Given the description of an element on the screen output the (x, y) to click on. 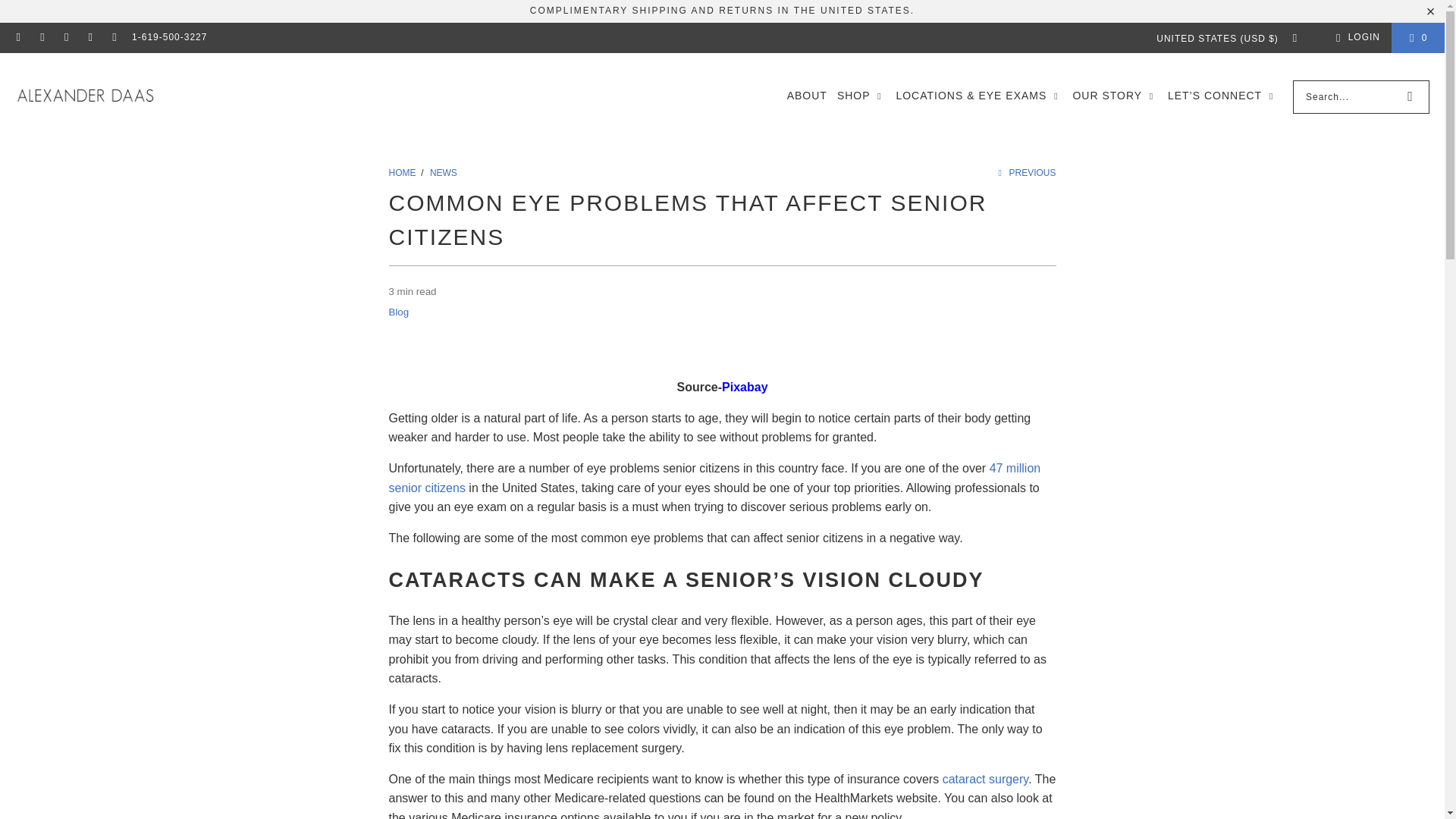
News tagged Blog (398, 311)
News (443, 172)
ALEXANDER DAAS on Pinterest (65, 37)
ALEXANDER DAAS (402, 172)
ALEXANDER DAAS on Twitter (89, 37)
ALEXANDER DAAS (84, 96)
My Account  (1355, 37)
ALEXANDER DAAS on Facebook (17, 37)
ALEXANDER DAAS on Instagram (41, 37)
ALEXANDER DAAS on YouTube (113, 37)
